Given the description of an element on the screen output the (x, y) to click on. 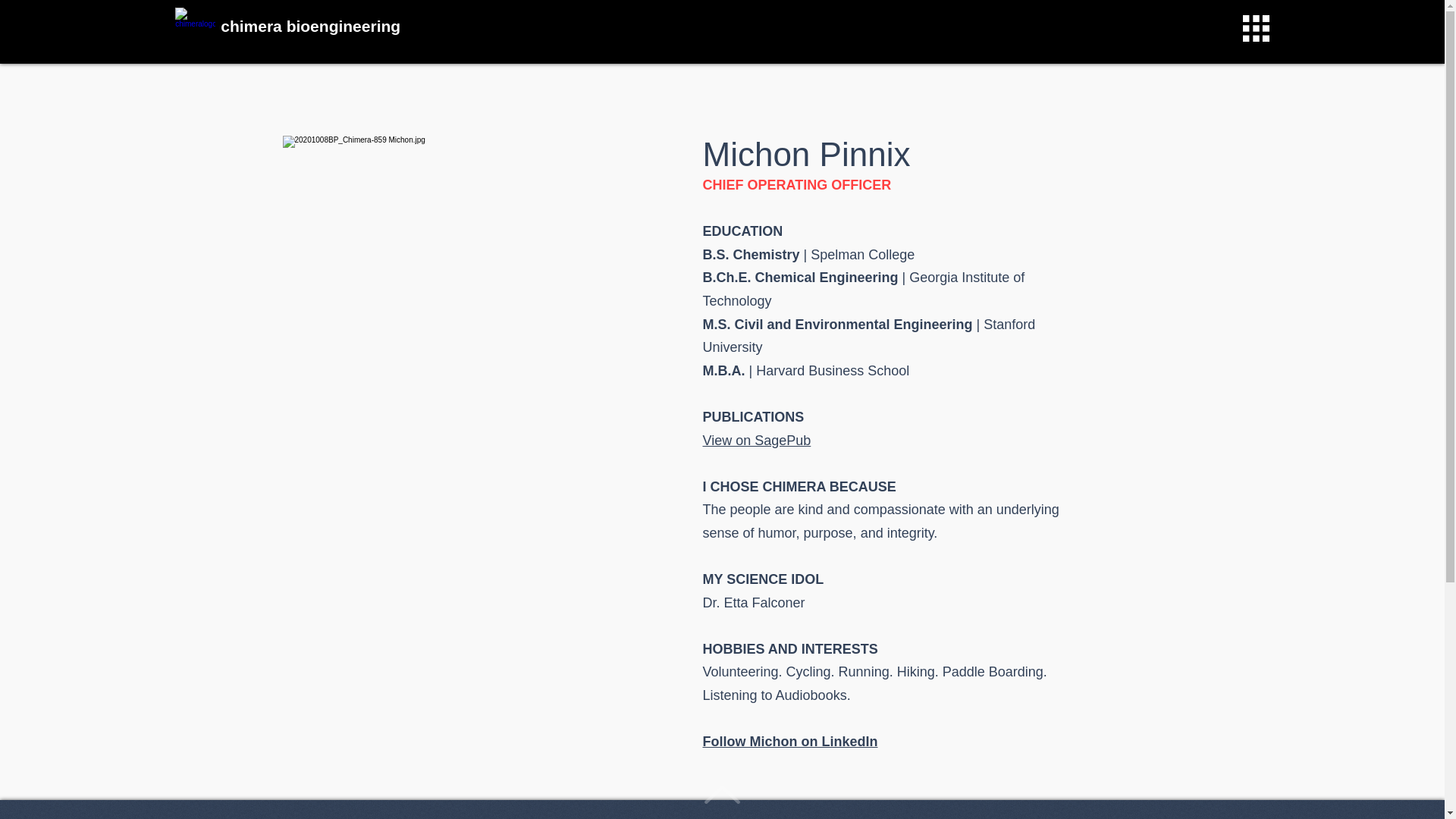
chimera bioengineering (310, 26)
View on SagePub (755, 440)
Follow Michon on LinkedIn (789, 741)
